Given the description of an element on the screen output the (x, y) to click on. 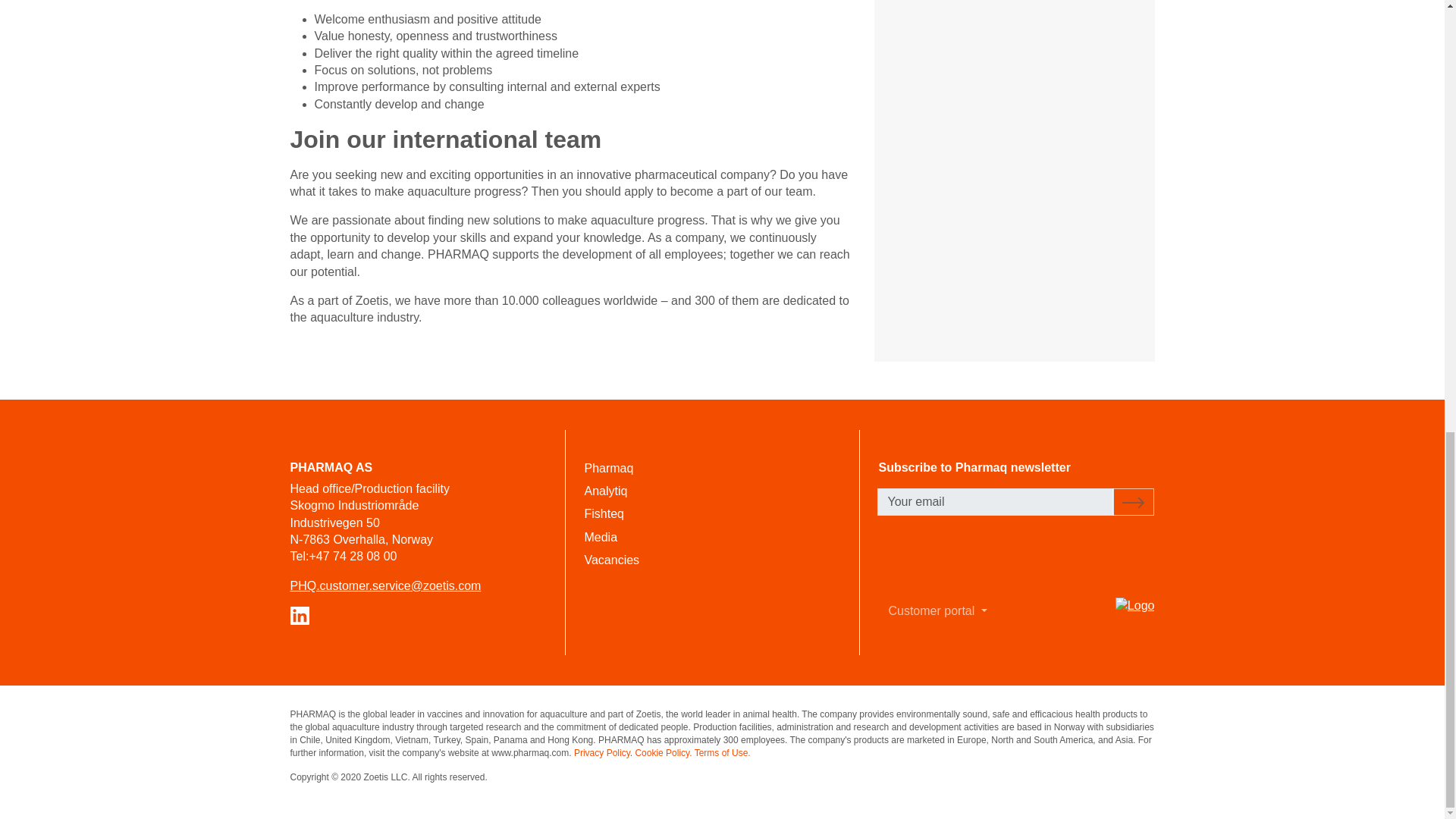
Terms Of Use Website Pharmaq (722, 752)
TRA ENG Privacy Statement Pharmaq AS Norway 131221 (601, 752)
Cookie Policy Website Pharmaq (662, 752)
